Given the description of an element on the screen output the (x, y) to click on. 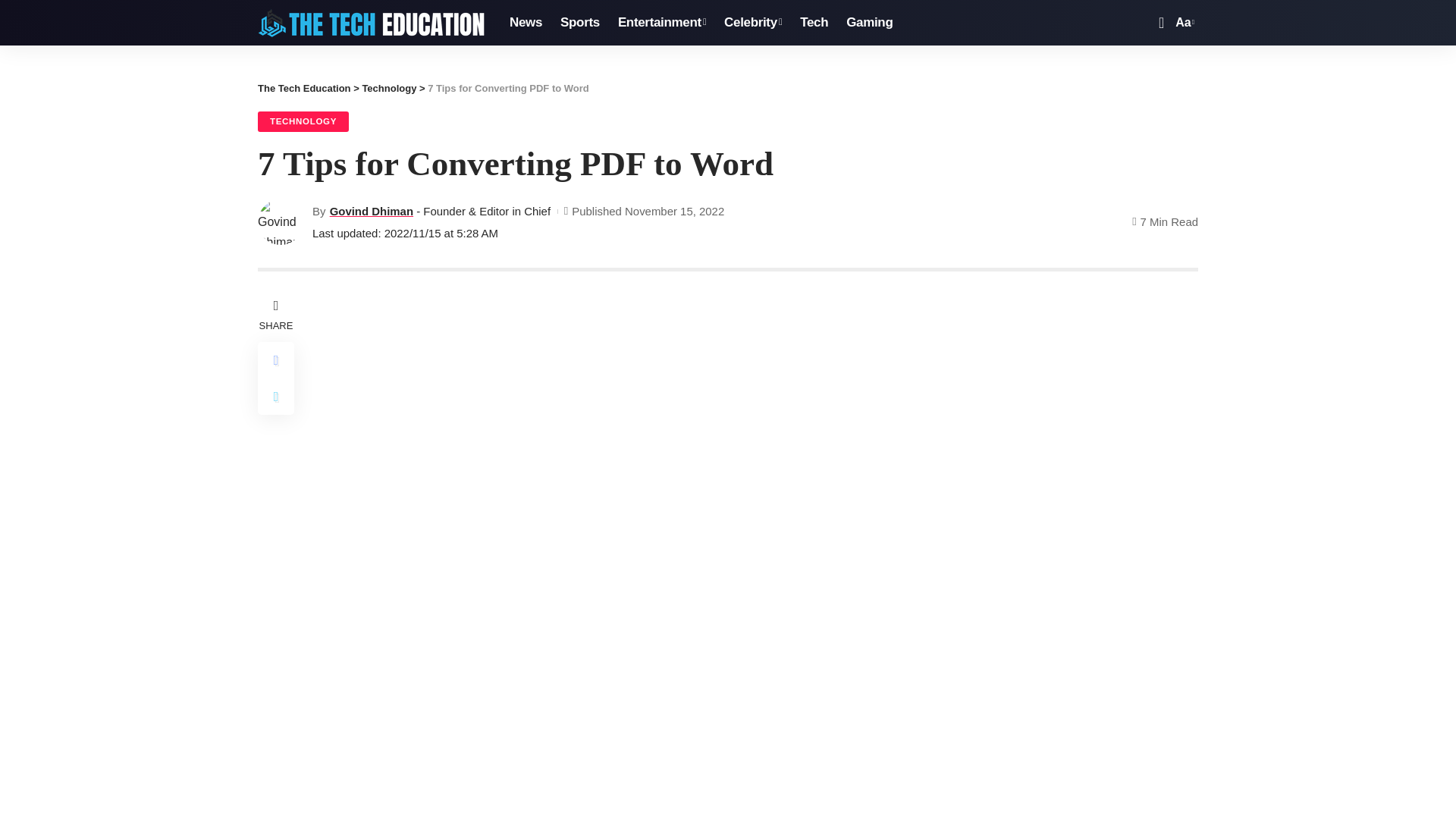
Entertainment (661, 22)
News (525, 22)
Sports (579, 22)
Gaming (869, 22)
Tech (813, 22)
Go to The Tech Education. (303, 88)
Go to the Technology Category archives. (388, 88)
The Tech Education (370, 22)
Celebrity (752, 22)
Aa (1182, 22)
